Given the description of an element on the screen output the (x, y) to click on. 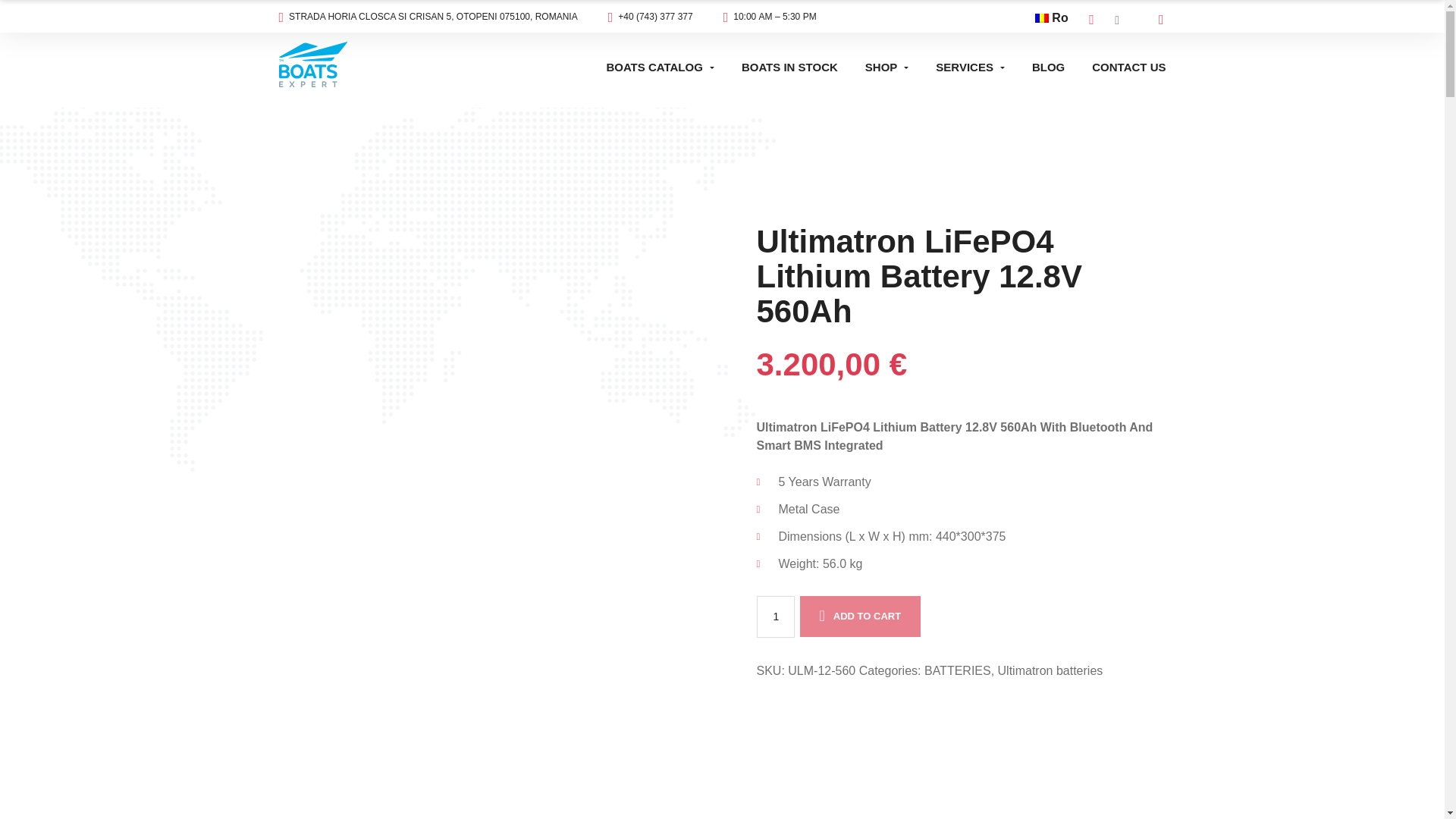
1 (775, 617)
Ro (1051, 16)
